Given the description of an element on the screen output the (x, y) to click on. 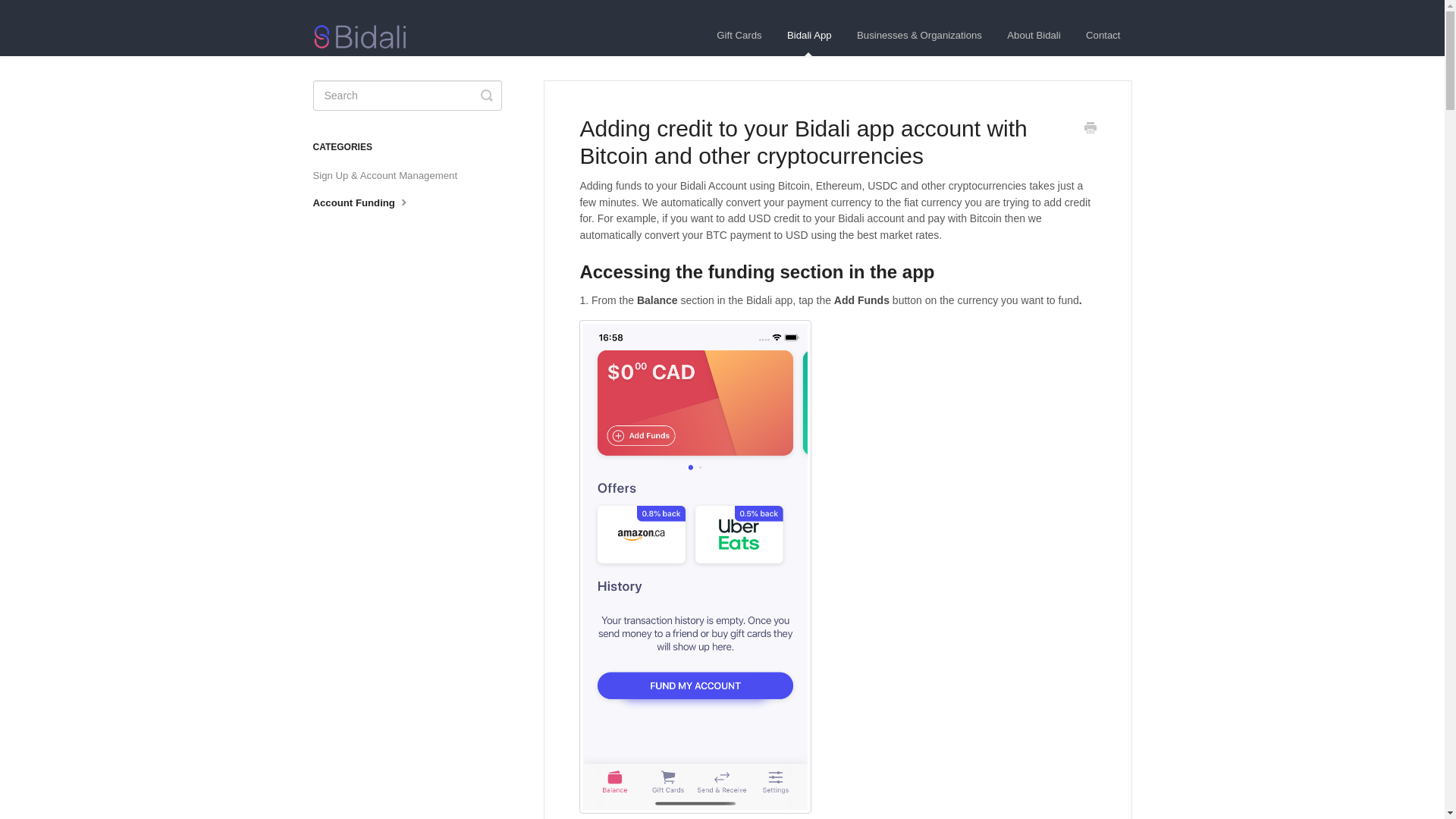
Gift Cards (738, 35)
Contact (1102, 35)
Bidali App (809, 35)
Account Funding (367, 202)
About Bidali (1033, 35)
search-query (406, 95)
